Given the description of an element on the screen output the (x, y) to click on. 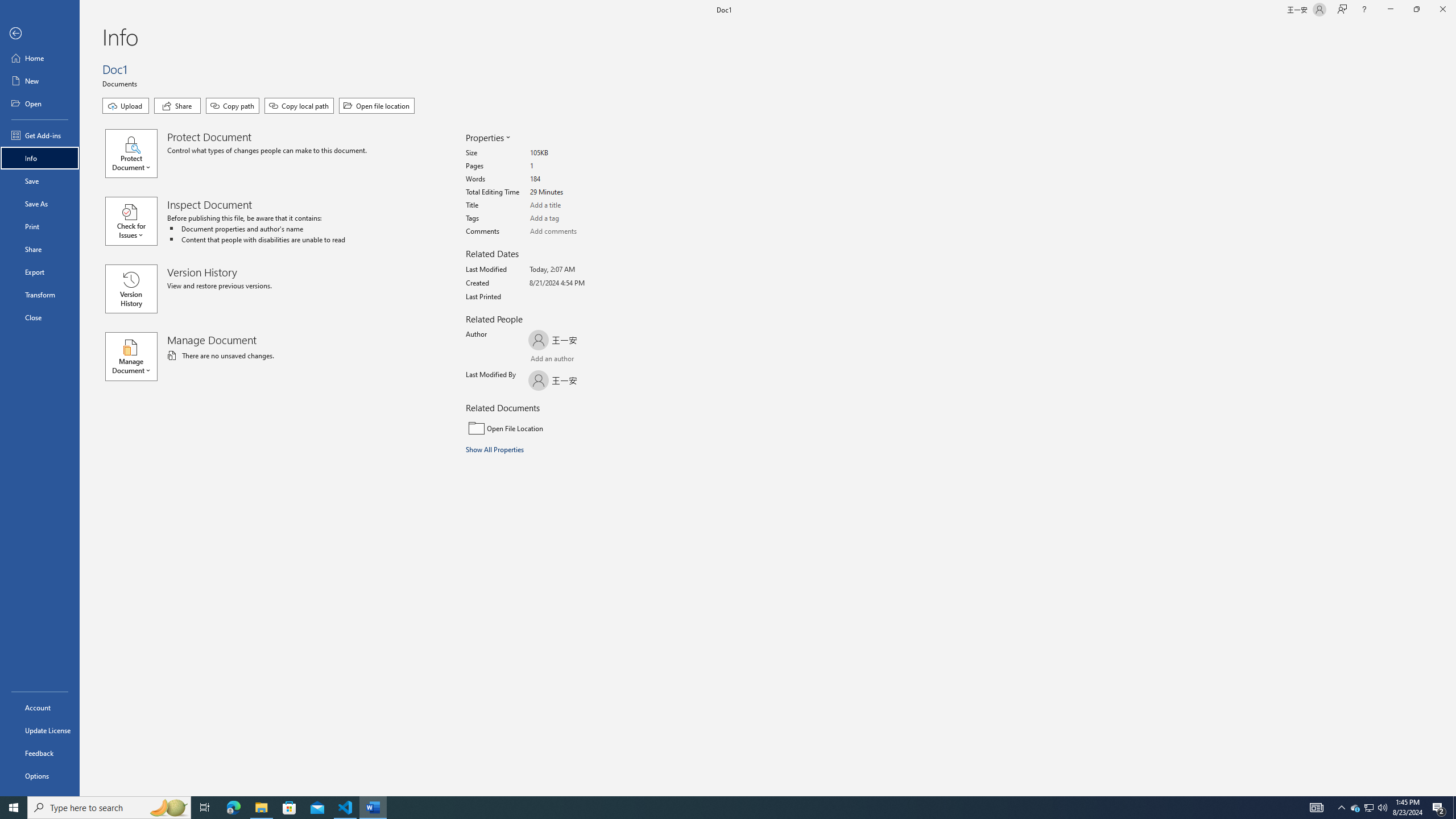
Title (572, 205)
Copy local path (298, 105)
Get Add-ins (40, 134)
Transform (40, 294)
Info (40, 157)
Save As (40, 203)
Copy path (232, 105)
Documents (120, 83)
Back (40, 33)
New (40, 80)
